Given the description of an element on the screen output the (x, y) to click on. 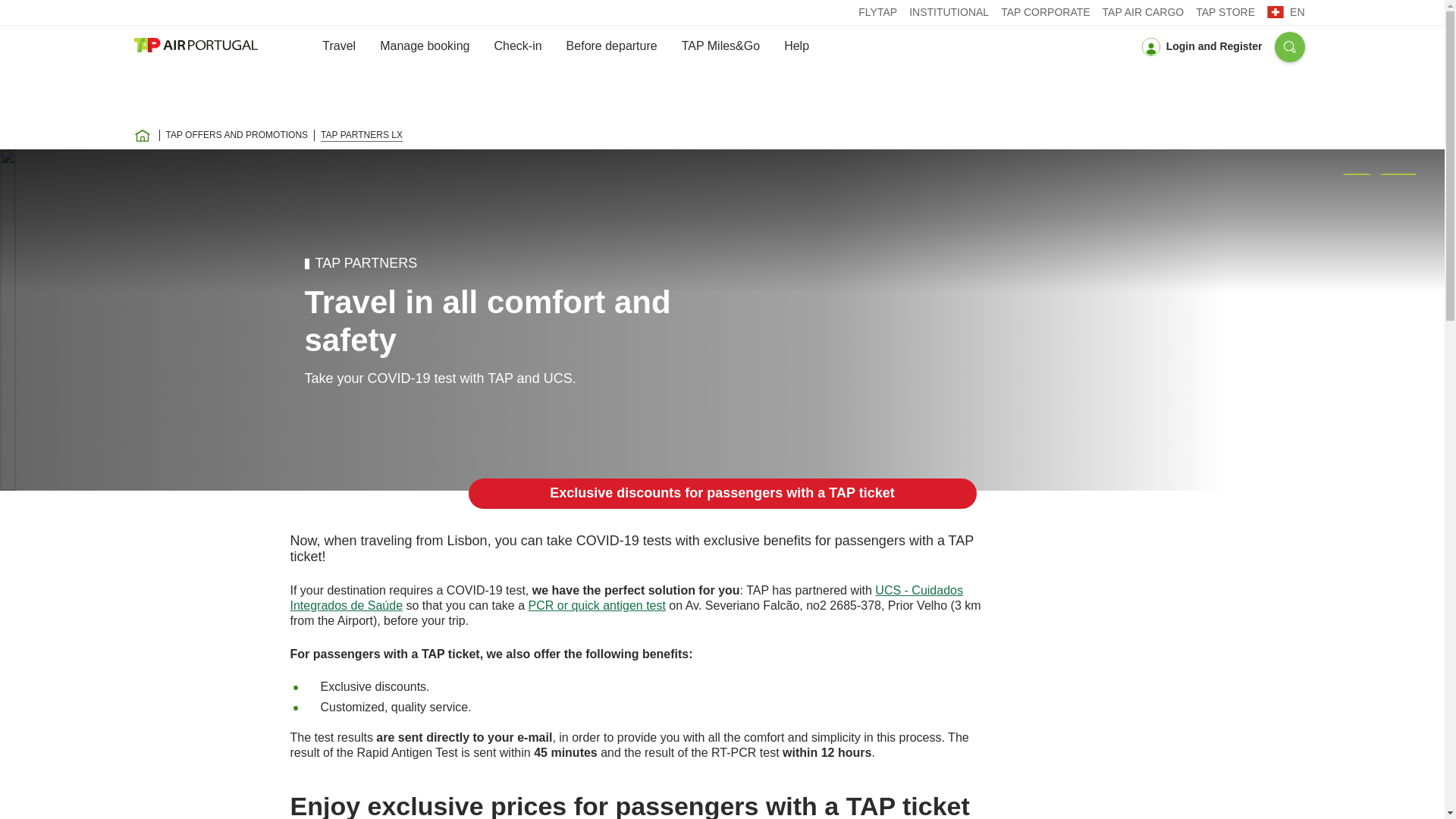
Languages (1285, 11)
Travel (339, 46)
TAP CORPORATE (1045, 11)
TAP STORE (1225, 11)
Travel (339, 46)
Manage booking (424, 46)
EN (1285, 11)
